Given the description of an element on the screen output the (x, y) to click on. 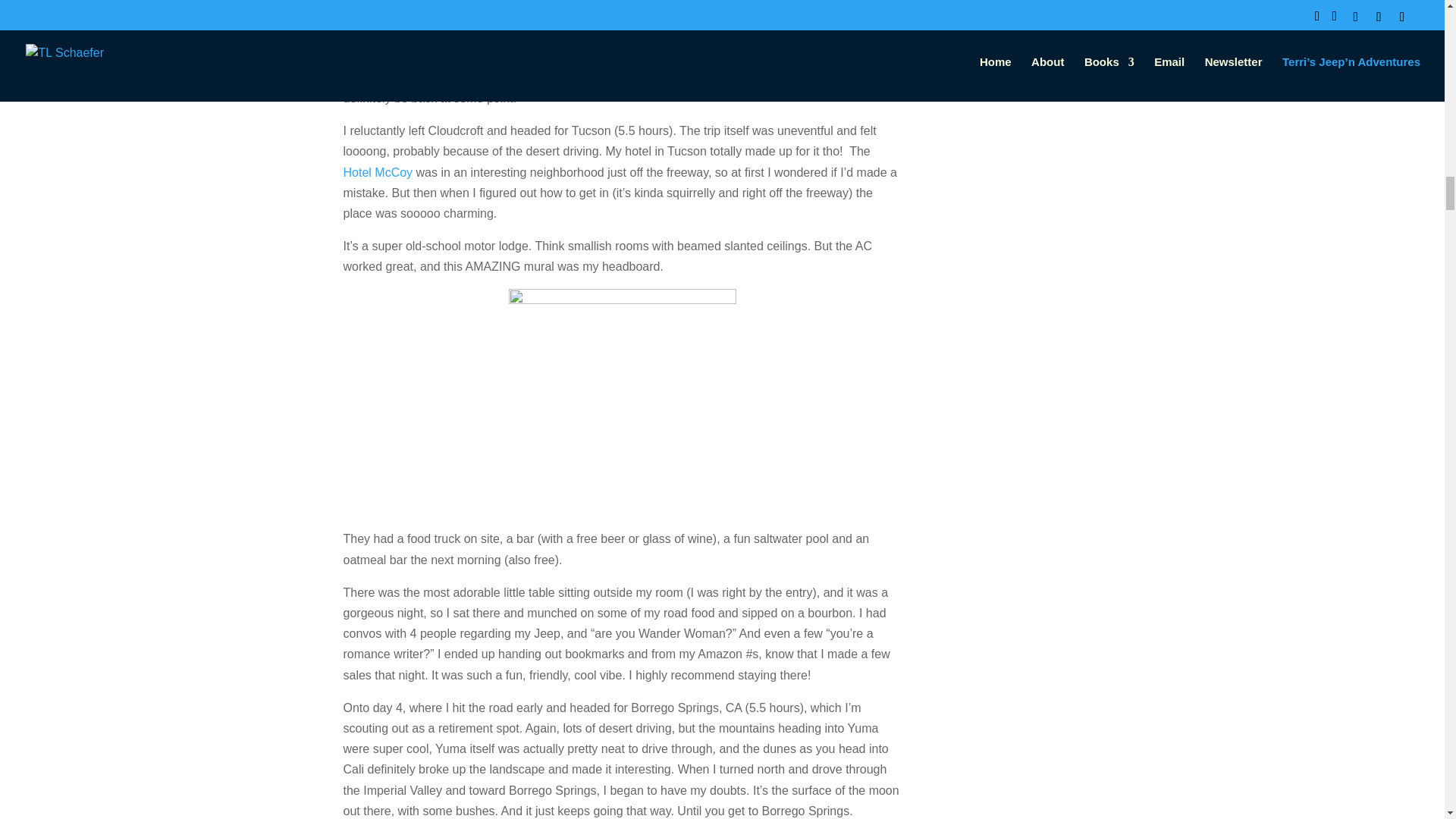
Hotel McCoy (377, 171)
